Given the description of an element on the screen output the (x, y) to click on. 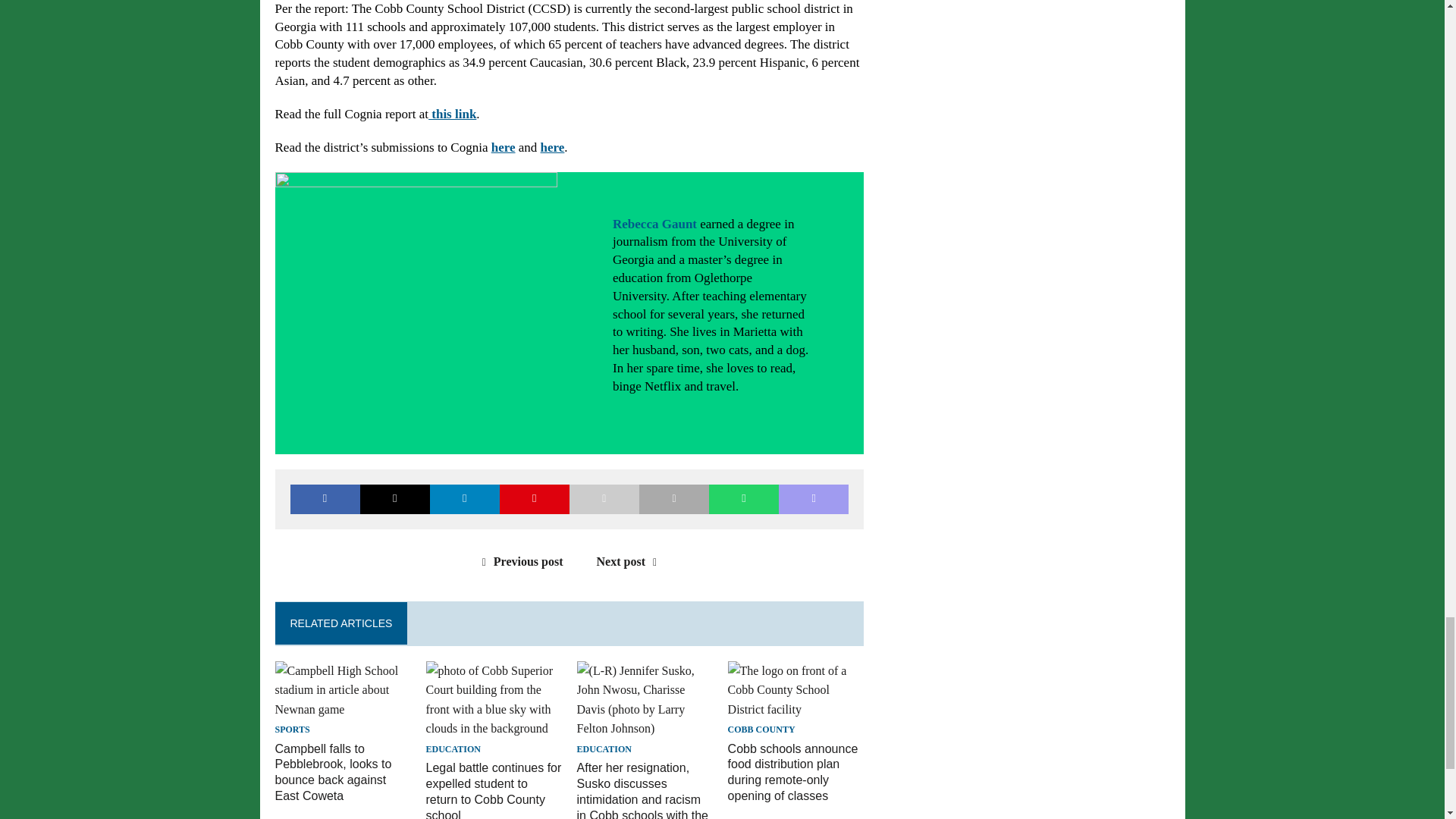
this link (452, 114)
here (503, 147)
here (552, 147)
